Given the description of an element on the screen output the (x, y) to click on. 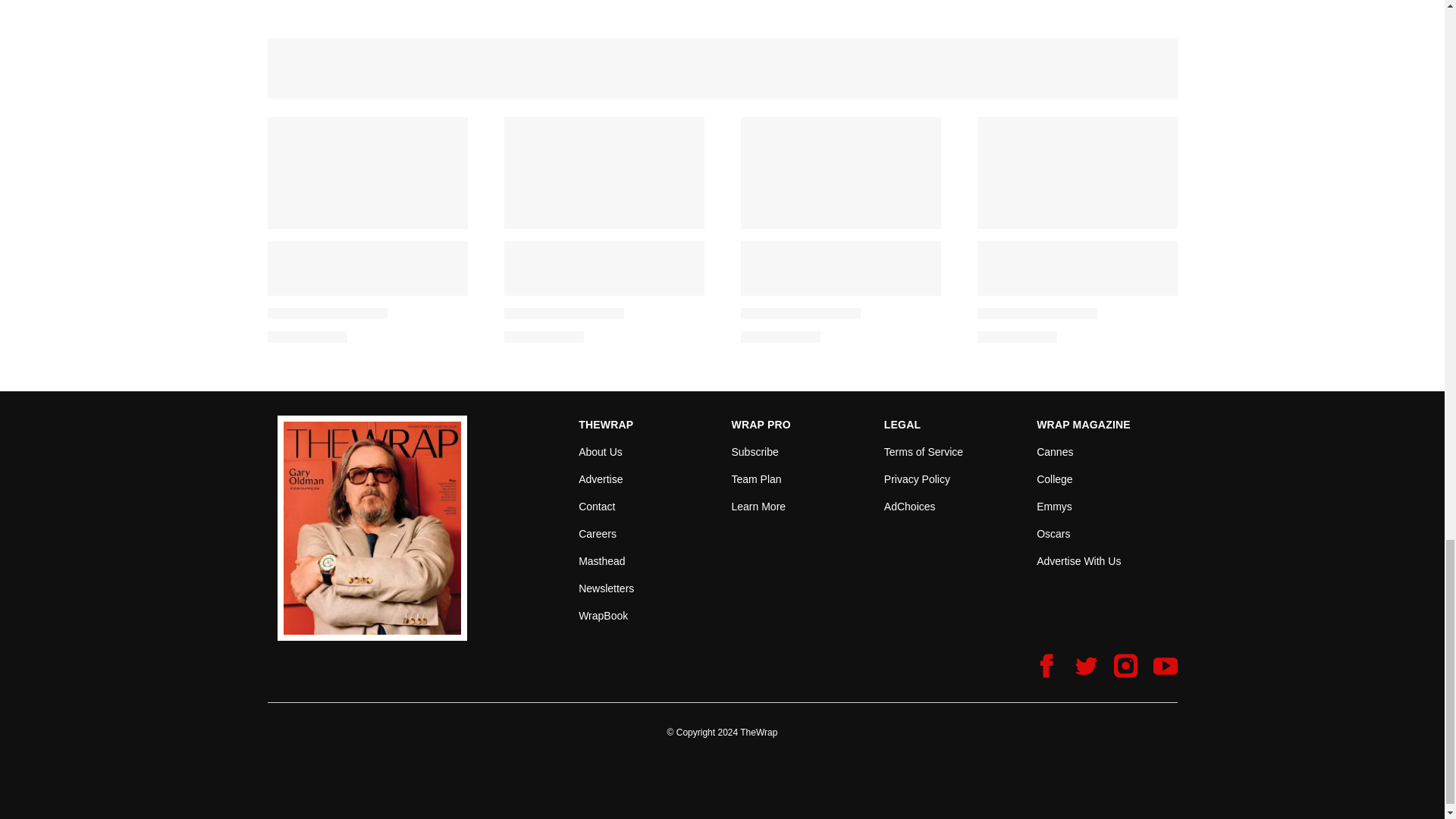
Learn more about becoming a member (758, 506)
